Given the description of an element on the screen output the (x, y) to click on. 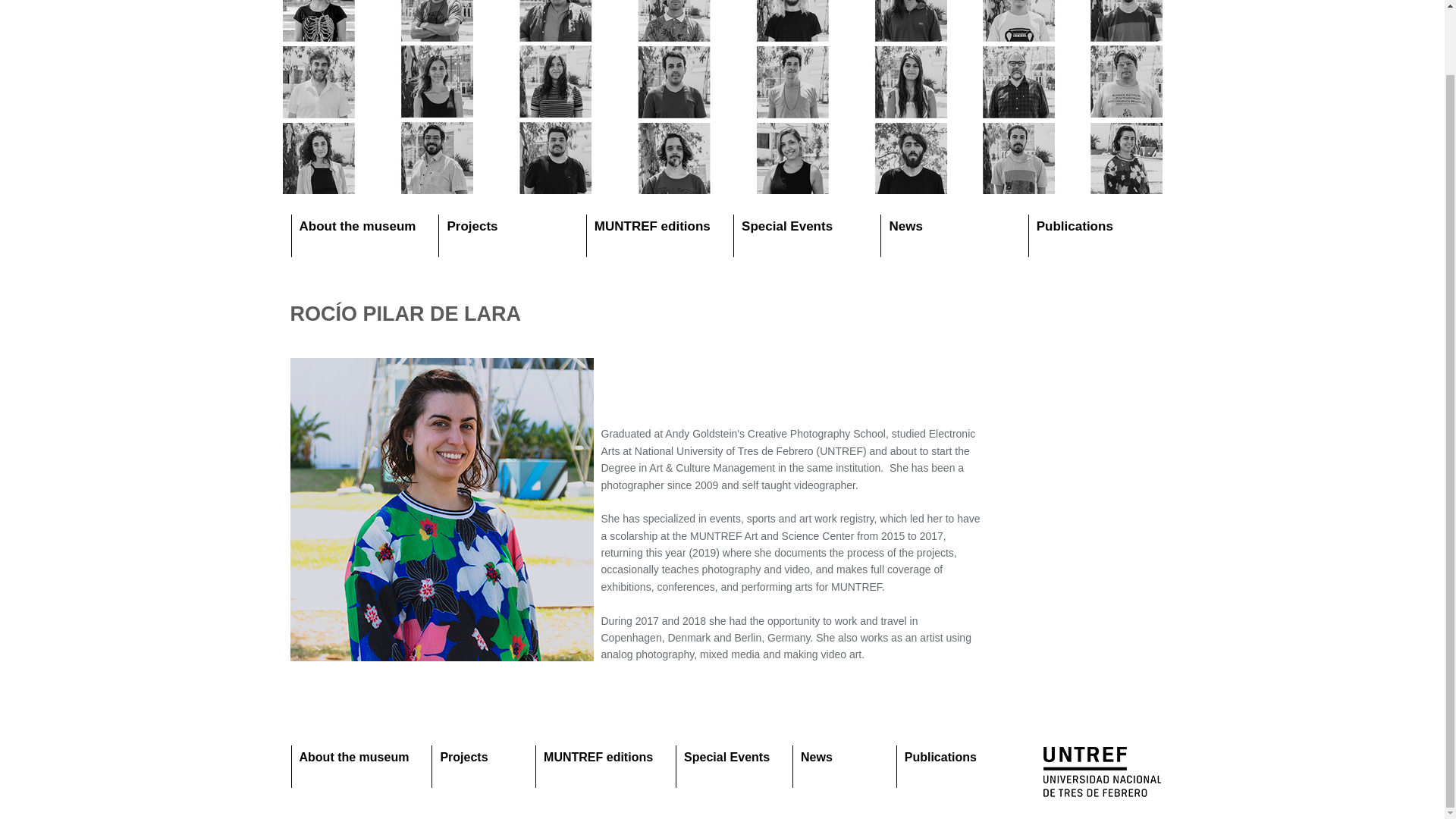
Special Events (786, 226)
MUNTREF editions (597, 757)
News (904, 226)
About the museum (353, 757)
Publications (940, 757)
Publications (1074, 226)
About the museum (356, 226)
Projects (463, 757)
Projects (471, 226)
News (816, 757)
MUNTREF editions (652, 226)
Special Events (727, 757)
